Given the description of an element on the screen output the (x, y) to click on. 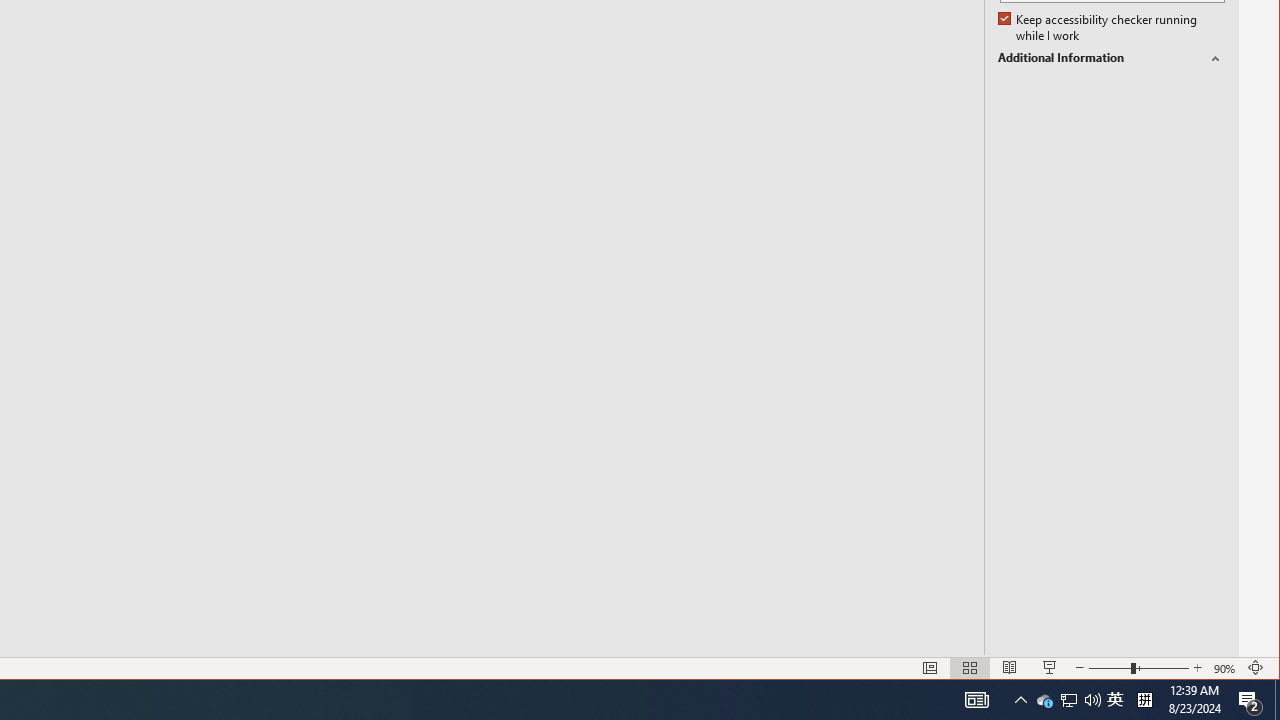
Zoom to Fit  (1256, 668)
Reading View (1069, 699)
Keep accessibility checker running while I work (1009, 668)
Zoom 90% (1044, 699)
AutomationID: 4105 (1099, 28)
Additional Information (1225, 668)
Tray Input Indicator - Chinese (Simplified, China) (976, 699)
Action Center, 2 new notifications (1111, 57)
Show desktop (1144, 699)
Slide Sorter (1250, 699)
Notification Chevron (1277, 699)
User Promoted Notification Area (969, 668)
